Given the description of an element on the screen output the (x, y) to click on. 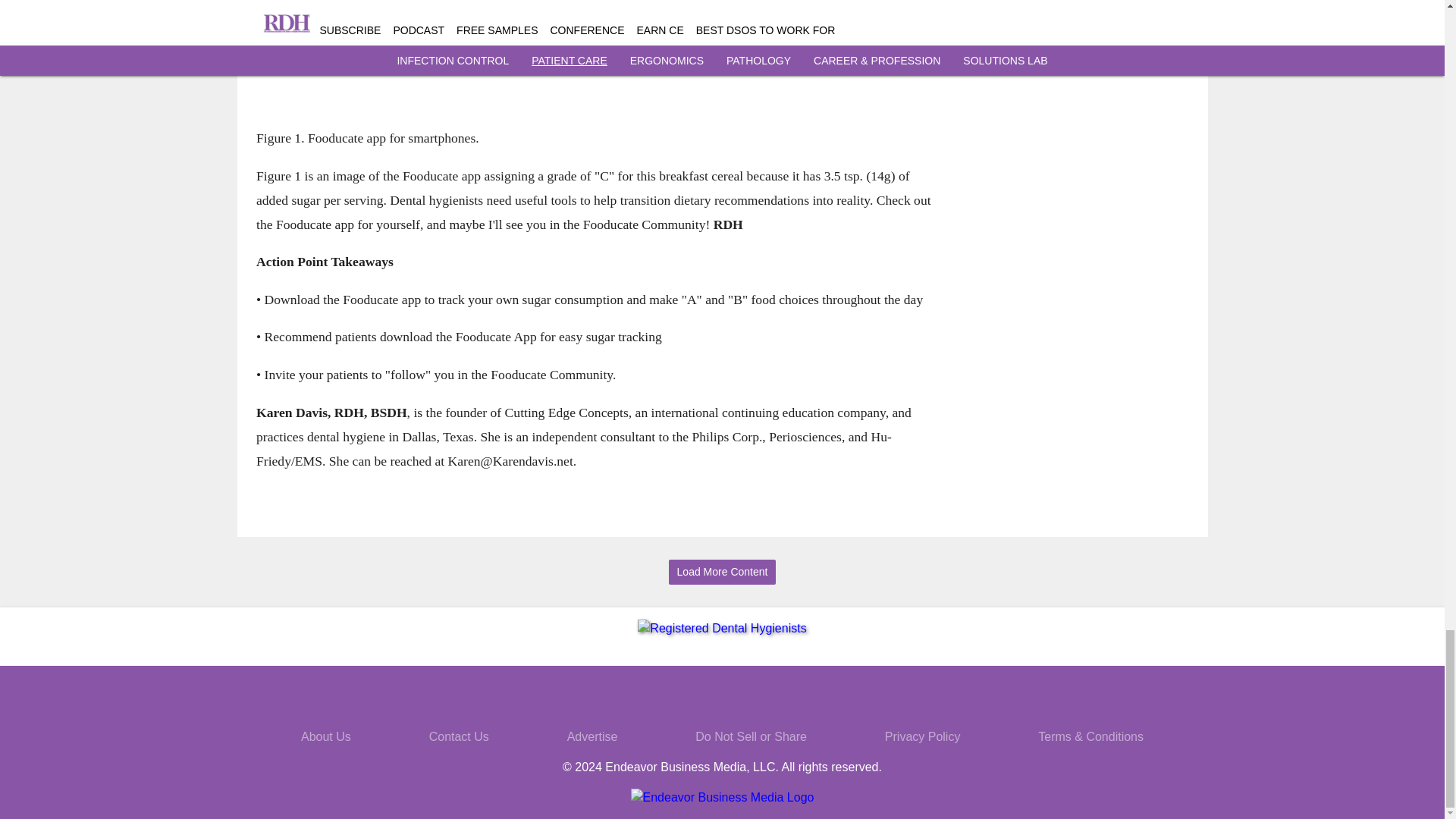
1503rdhcdav01 (593, 57)
